Given the description of an element on the screen output the (x, y) to click on. 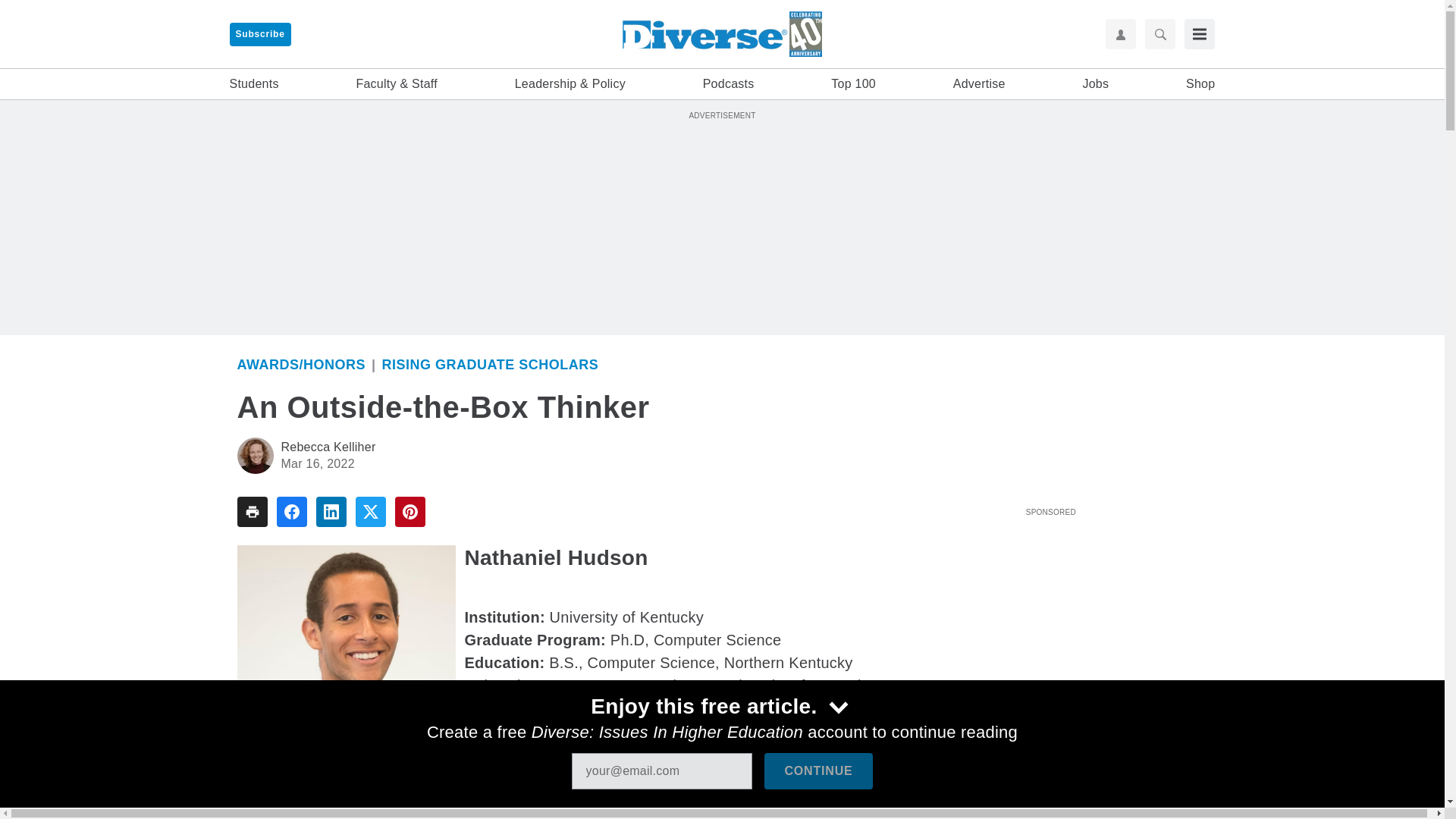
Jobs (1094, 84)
Podcasts (728, 84)
Share To pinterest (409, 511)
Share To linkedin (330, 511)
Shop (1200, 84)
Top 100 (853, 84)
Share To facebook (290, 511)
Rising Graduate Scholars (489, 364)
Advertise (979, 84)
Subscribe (258, 33)
Students (253, 84)
Subscribe (258, 33)
Share To twitter (370, 511)
Share To print (250, 511)
